Given the description of an element on the screen output the (x, y) to click on. 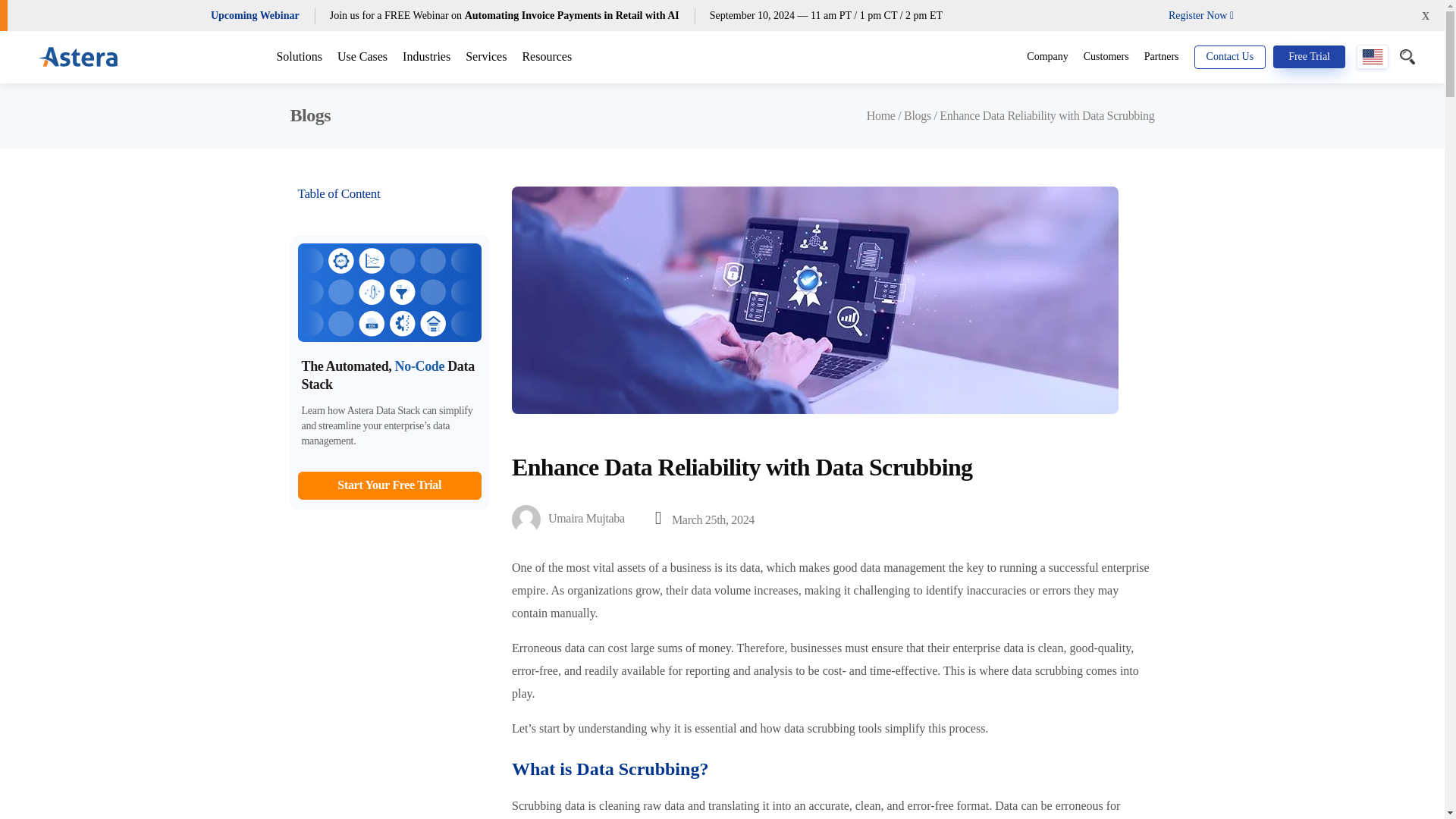
Use Cases (362, 56)
Resources (546, 56)
Industries (426, 56)
